Given the description of an element on the screen output the (x, y) to click on. 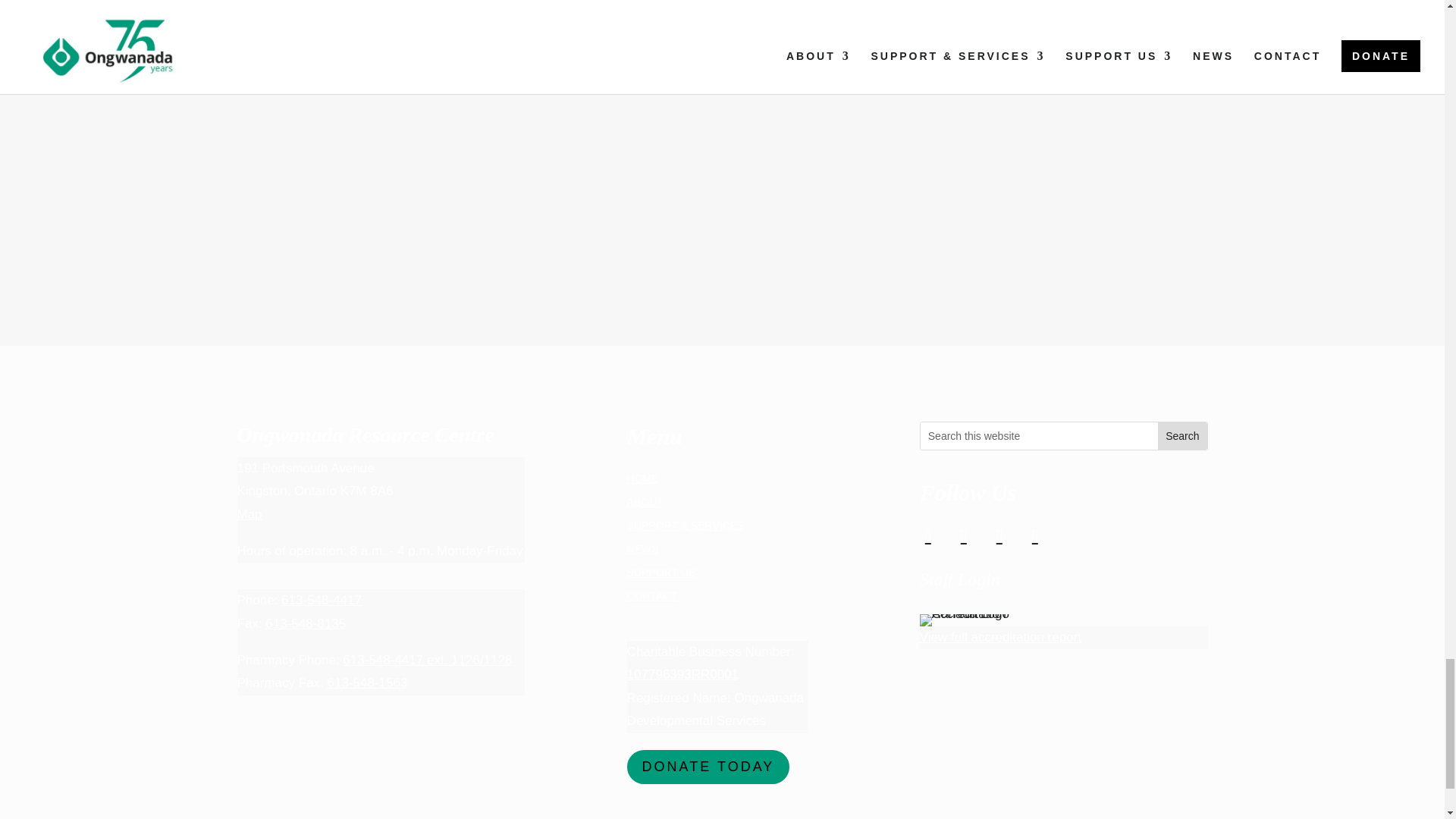
Search (1182, 435)
Follow on Twitter (963, 535)
Accreditation Canada January 2022 (974, 620)
Follow on Youtube (1034, 535)
Follow on Facebook (928, 535)
Follow on LinkedIn (999, 535)
Search (1182, 435)
